Given the description of an element on the screen output the (x, y) to click on. 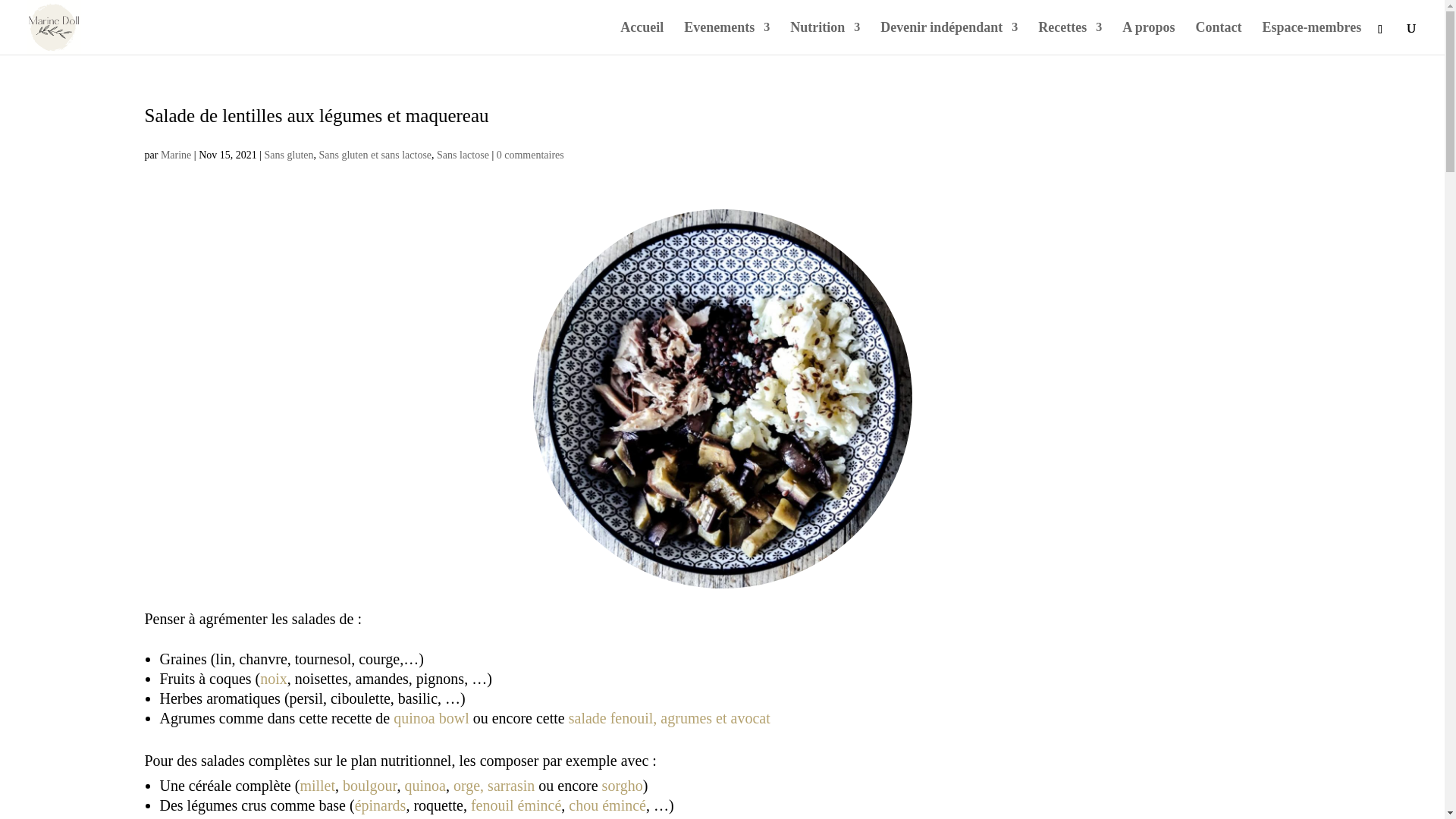
Evenements Element type: text (726, 37)
Accueil Element type: text (641, 37)
orge, Element type: text (468, 785)
millet Element type: text (317, 785)
0 commentaires Element type: text (530, 154)
Sans gluten et sans lactose Element type: text (375, 154)
Recettes Element type: text (1069, 37)
salade fenouil, agrumes et avocat Element type: text (669, 717)
Sans gluten Element type: text (288, 154)
Marine Element type: text (175, 154)
Espace-membres Element type: text (1311, 37)
boulgour Element type: text (369, 785)
quinoa bowl  Element type: text (432, 717)
noix Element type: text (273, 678)
Nutrition Element type: text (824, 37)
Contact Element type: text (1218, 37)
A propos Element type: text (1148, 37)
sarrasin  Element type: text (512, 785)
quinoa Element type: text (424, 785)
Sans lactose Element type: text (462, 154)
sorgho Element type: text (622, 785)
